Given the description of an element on the screen output the (x, y) to click on. 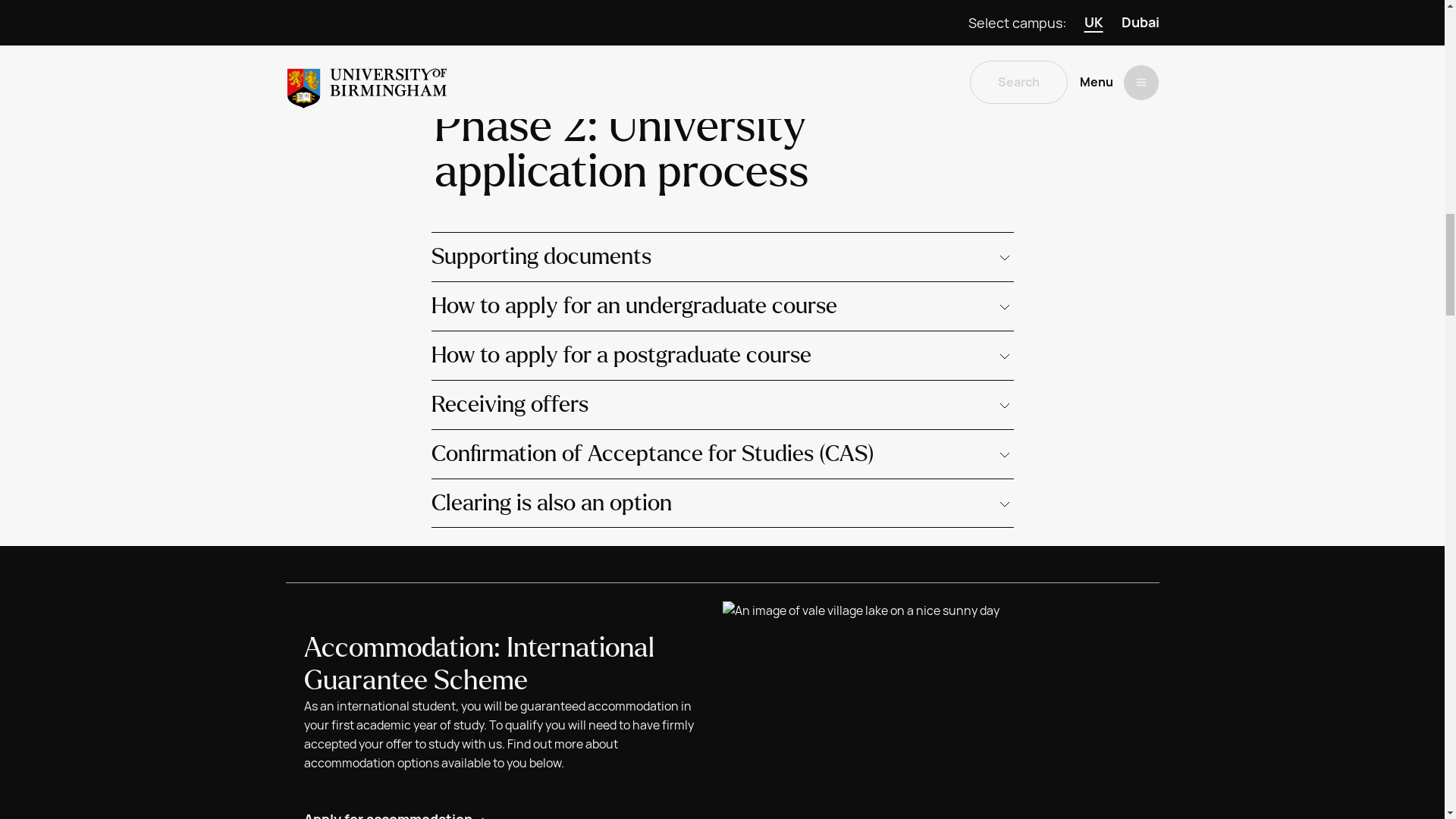
Postgraduate entry requirements (550, 39)
Apply for accommodation (395, 814)
Undergraduate entry requirements (553, 2)
